Given the description of an element on the screen output the (x, y) to click on. 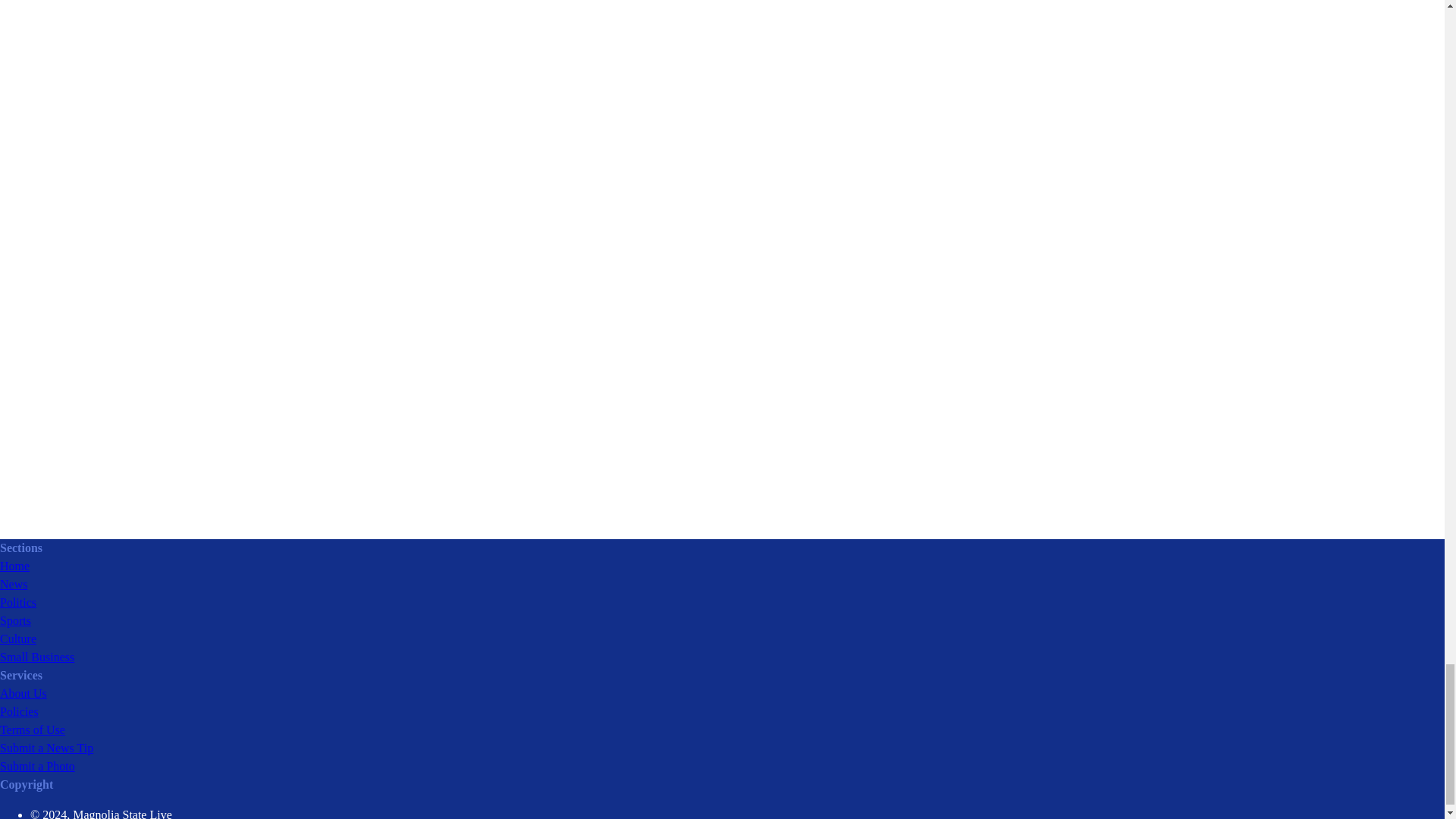
Small Business (37, 656)
Policies (19, 711)
About Us (23, 693)
Politics (18, 602)
Submit a News Tip (46, 748)
Terms of Use (32, 729)
Sports (15, 620)
Submit a Photo (37, 766)
Home (14, 565)
News (13, 584)
Culture (18, 638)
